Given the description of an element on the screen output the (x, y) to click on. 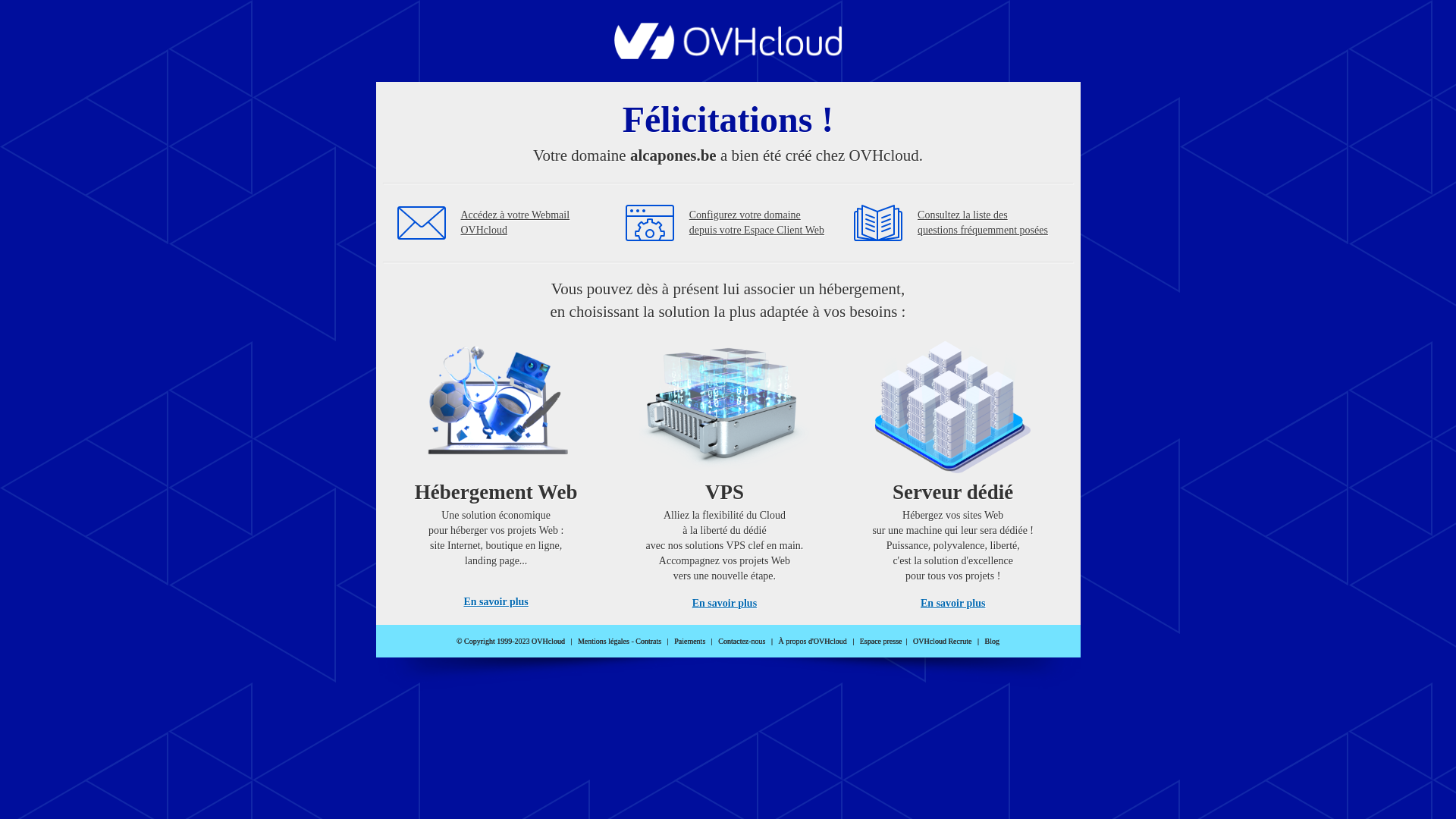
En savoir plus Element type: text (495, 601)
Blog Element type: text (992, 641)
OVHcloud Recrute Element type: text (942, 641)
VPS Element type: hover (724, 469)
Contactez-nous Element type: text (741, 641)
Configurez votre domaine
depuis votre Espace Client Web Element type: text (756, 222)
En savoir plus Element type: text (724, 602)
Paiements Element type: text (689, 641)
Espace presse Element type: text (880, 641)
OVHcloud Element type: hover (727, 54)
En savoir plus Element type: text (952, 602)
